Given the description of an element on the screen output the (x, y) to click on. 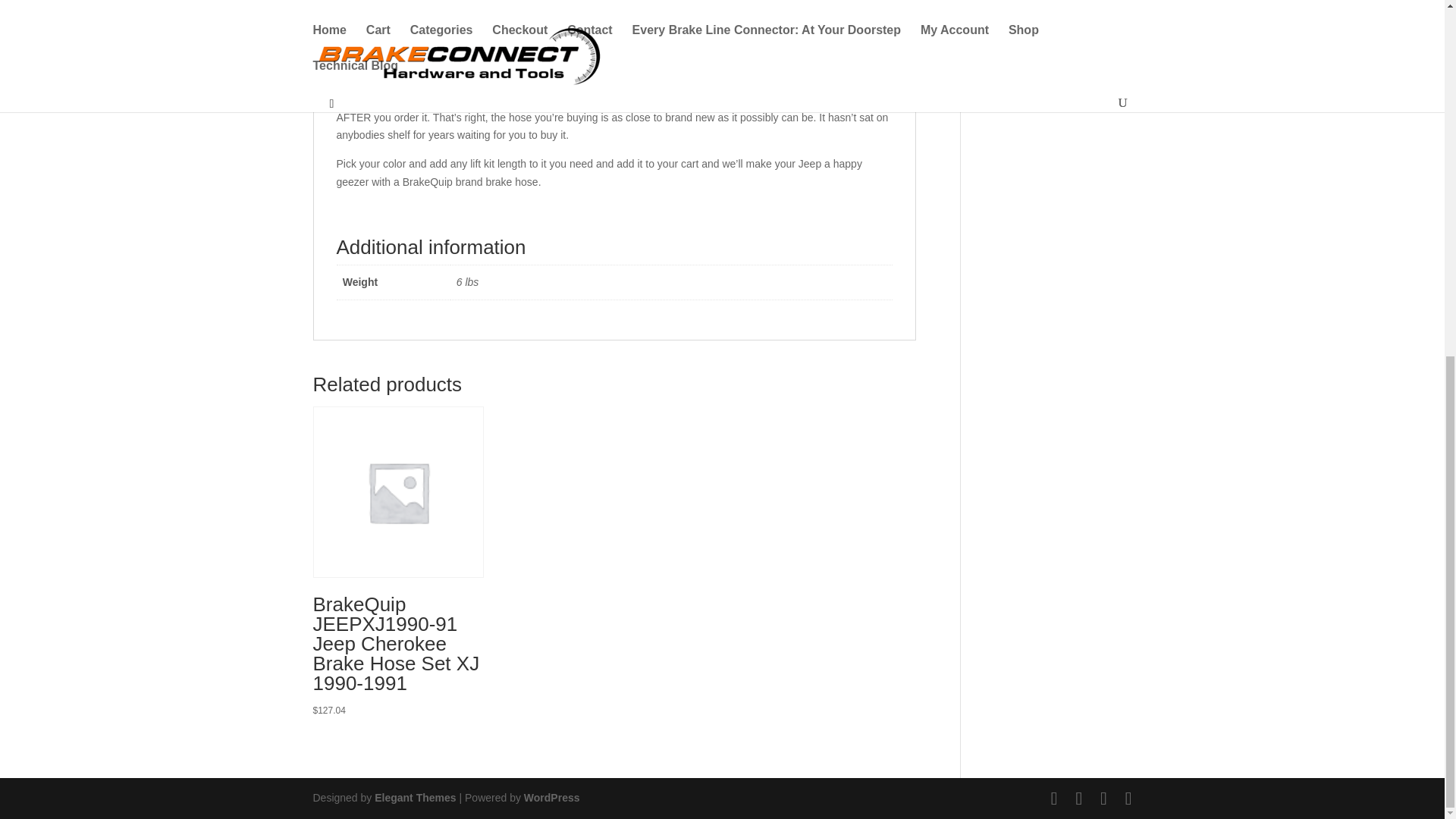
Premium WordPress Themes (414, 797)
WordPress (551, 797)
Elegant Themes (414, 797)
